Given the description of an element on the screen output the (x, y) to click on. 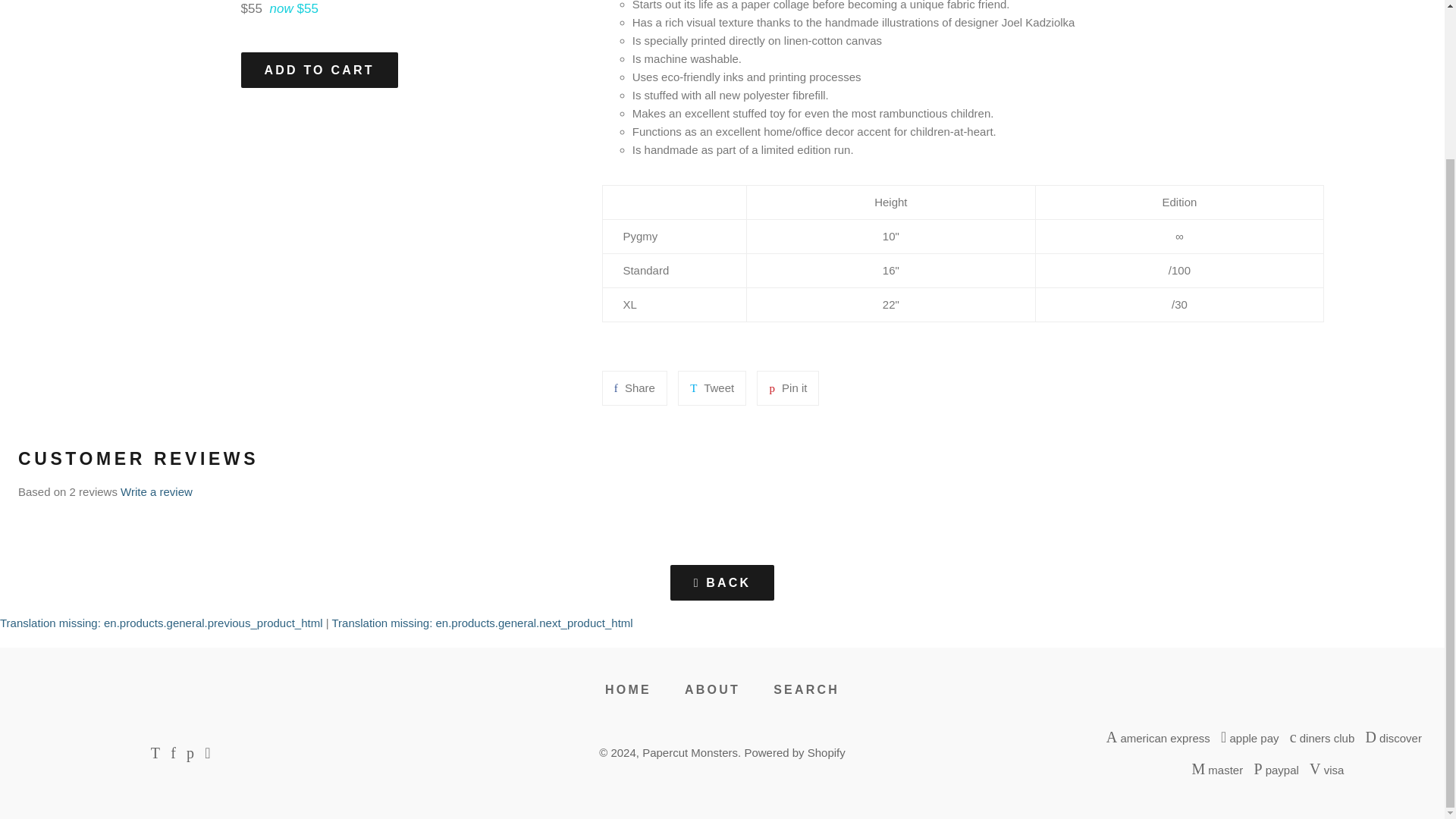
HOME (634, 388)
Tweet on Twitter (627, 689)
BACK (711, 388)
Share on Facebook (721, 583)
Powered by Shopify (634, 388)
ADD TO CART (794, 752)
Papercut Monsters (319, 70)
Write a review (690, 752)
SEARCH (711, 388)
Pin on Pinterest (156, 491)
ABOUT (806, 689)
